Given the description of an element on the screen output the (x, y) to click on. 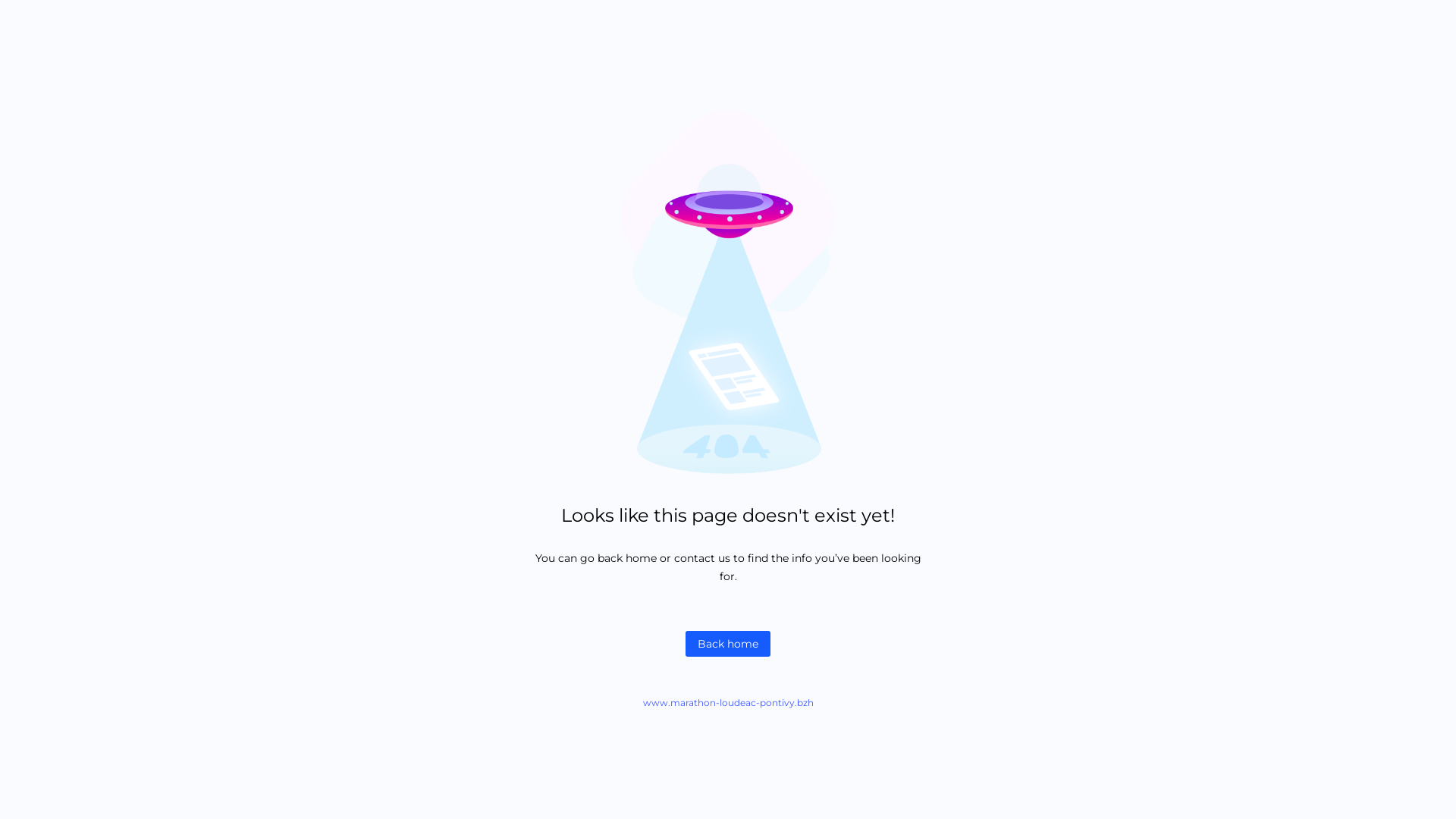
www.marathon-loudeac-pontivy.bzh Element type: text (728, 702)
Back home Element type: text (727, 643)
